Given the description of an element on the screen output the (x, y) to click on. 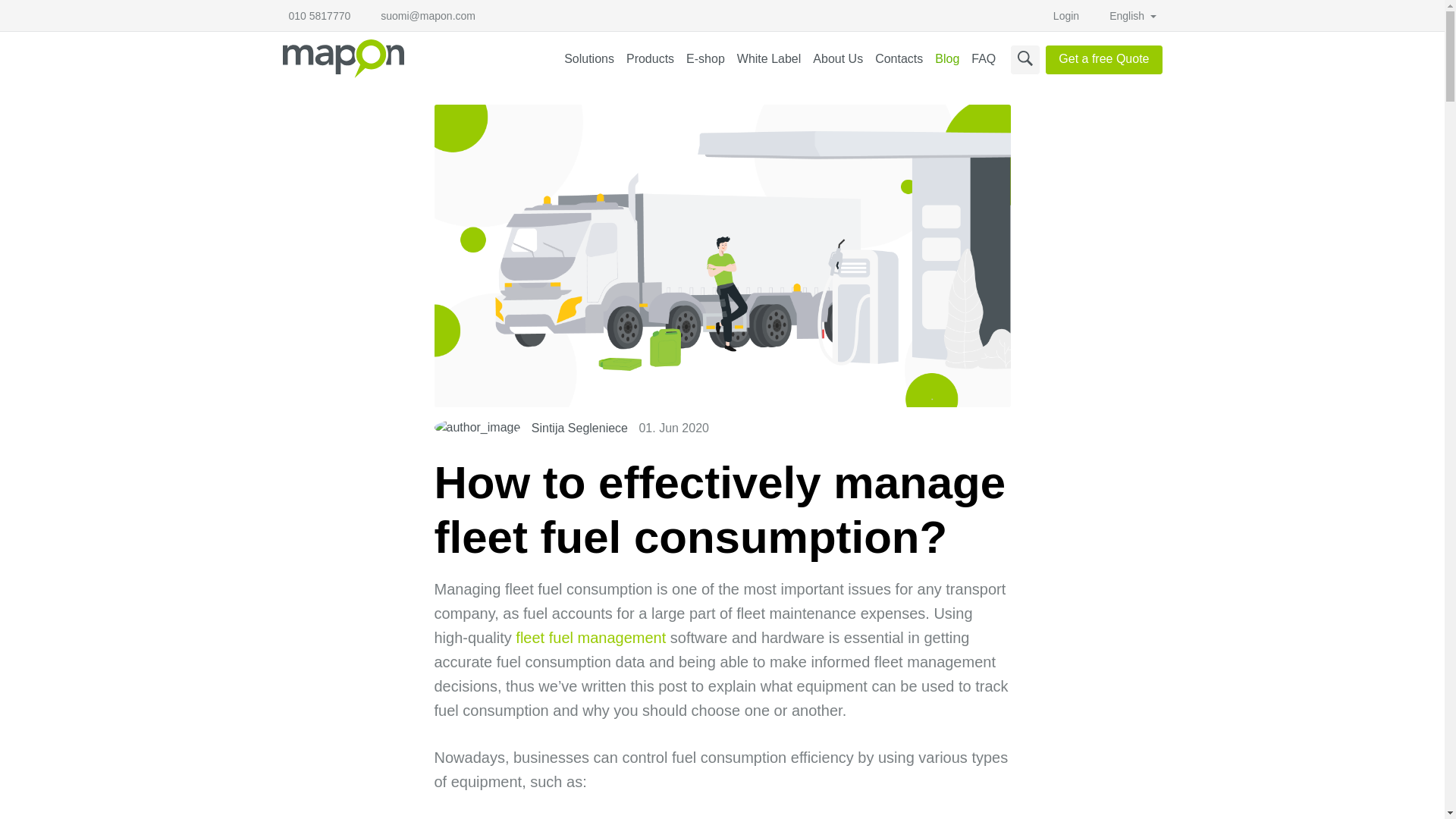
010 5817770 (319, 15)
Login (1065, 15)
